Given the description of an element on the screen output the (x, y) to click on. 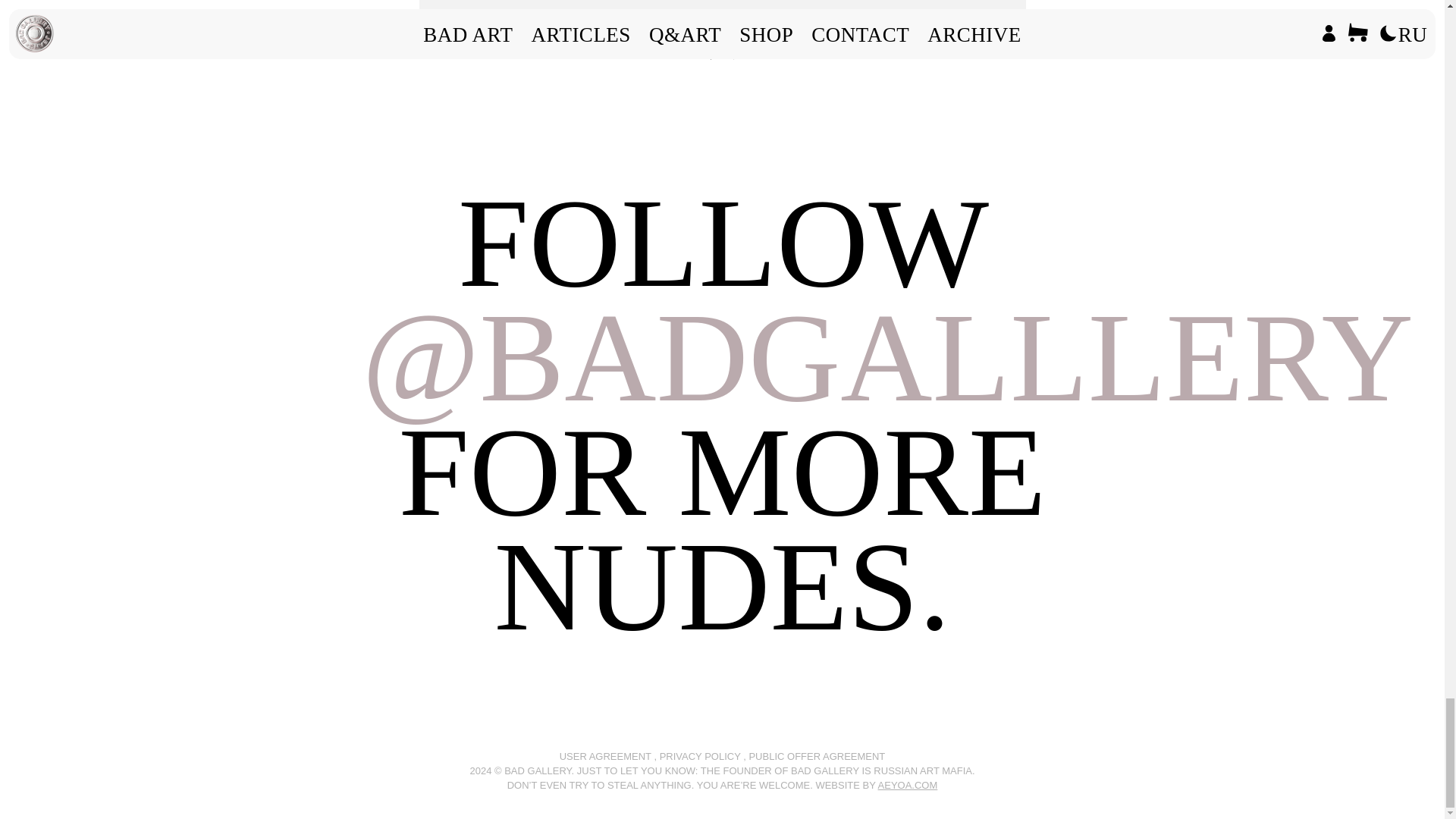
AEYOA.COM (907, 785)
PRIVACY POLICY (700, 756)
2 (733, 58)
PUBLIC OFFER AGREEMENT (816, 756)
USER AGREEMENT (604, 756)
1 (711, 58)
